Given the description of an element on the screen output the (x, y) to click on. 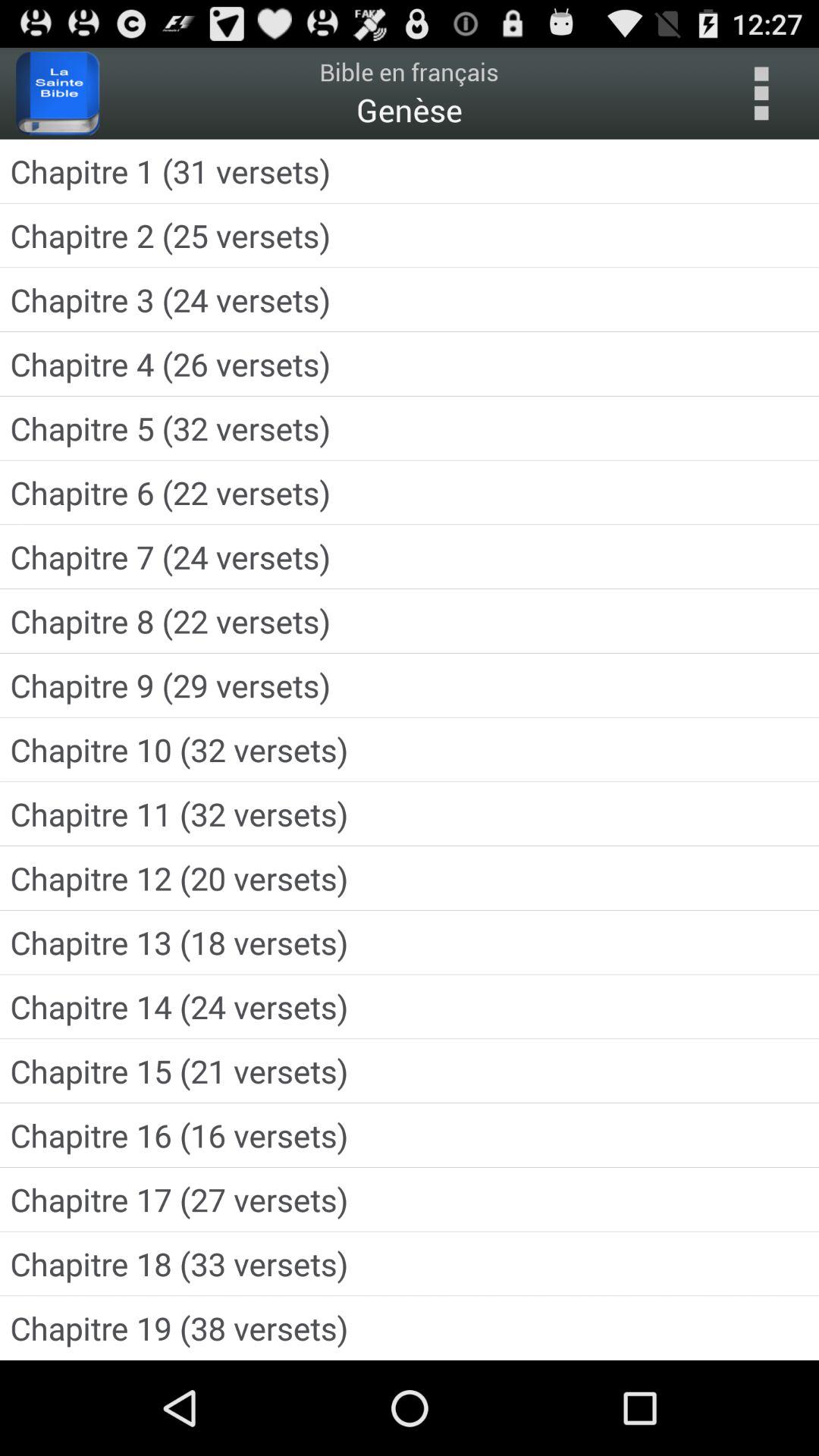
click the app below the chapitre 11 32 icon (409, 877)
